Given the description of an element on the screen output the (x, y) to click on. 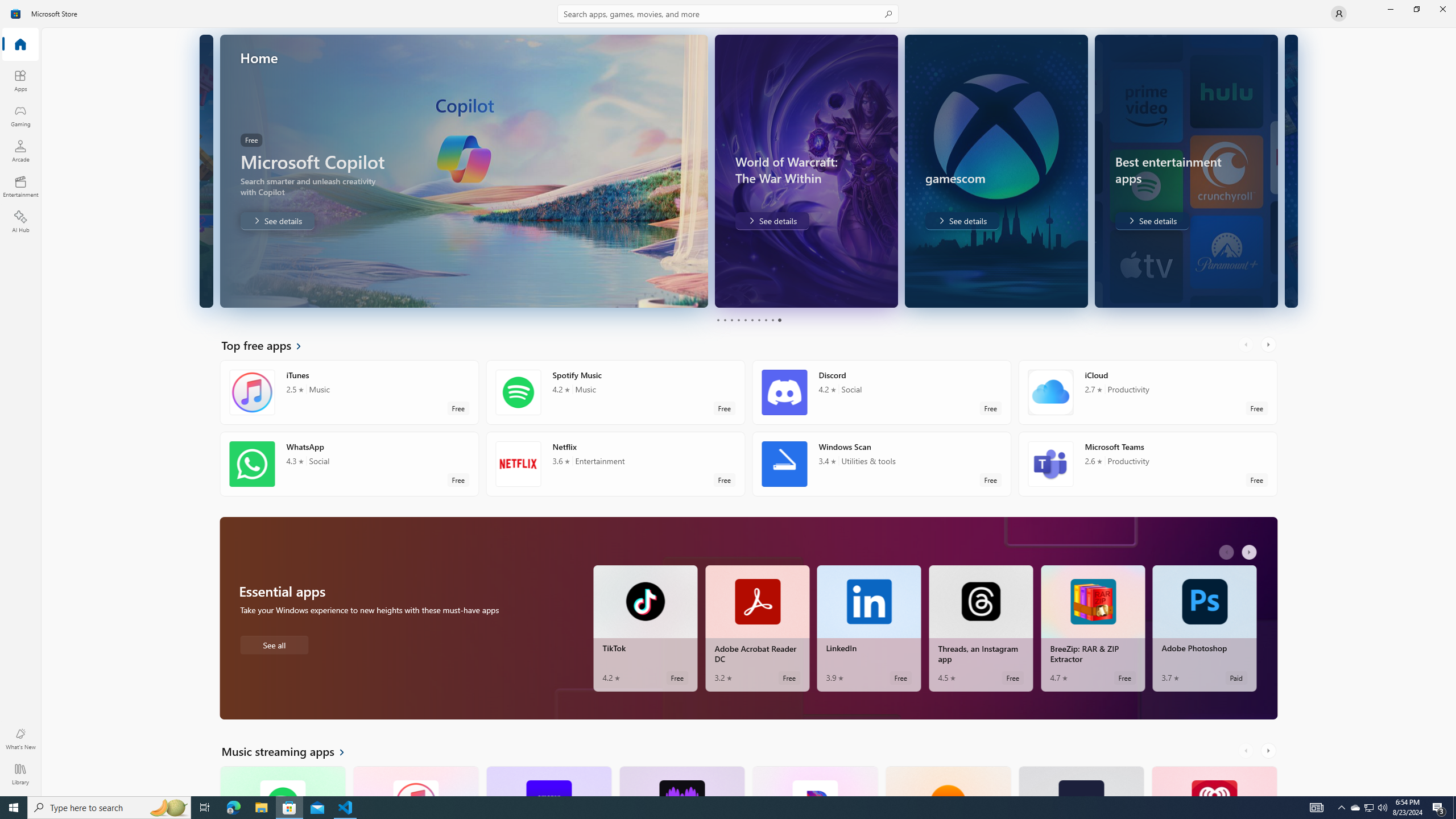
WhatsApp. Average rating of 4.3 out of five stars. Free   (349, 463)
AutomationID: RightScrollButton (1269, 750)
AutomationID: NavigationControl (728, 398)
AutomationID: LeftScrollButton (1246, 750)
Search (727, 13)
Apps (20, 80)
Page 9 (772, 319)
Minimize Microsoft Store (1390, 9)
AI Hub (20, 221)
Page 4 (738, 319)
Discord. Average rating of 4.2 out of five stars. Free   (881, 392)
See all  Essential apps (274, 644)
User profile (1338, 13)
